Given the description of an element on the screen output the (x, y) to click on. 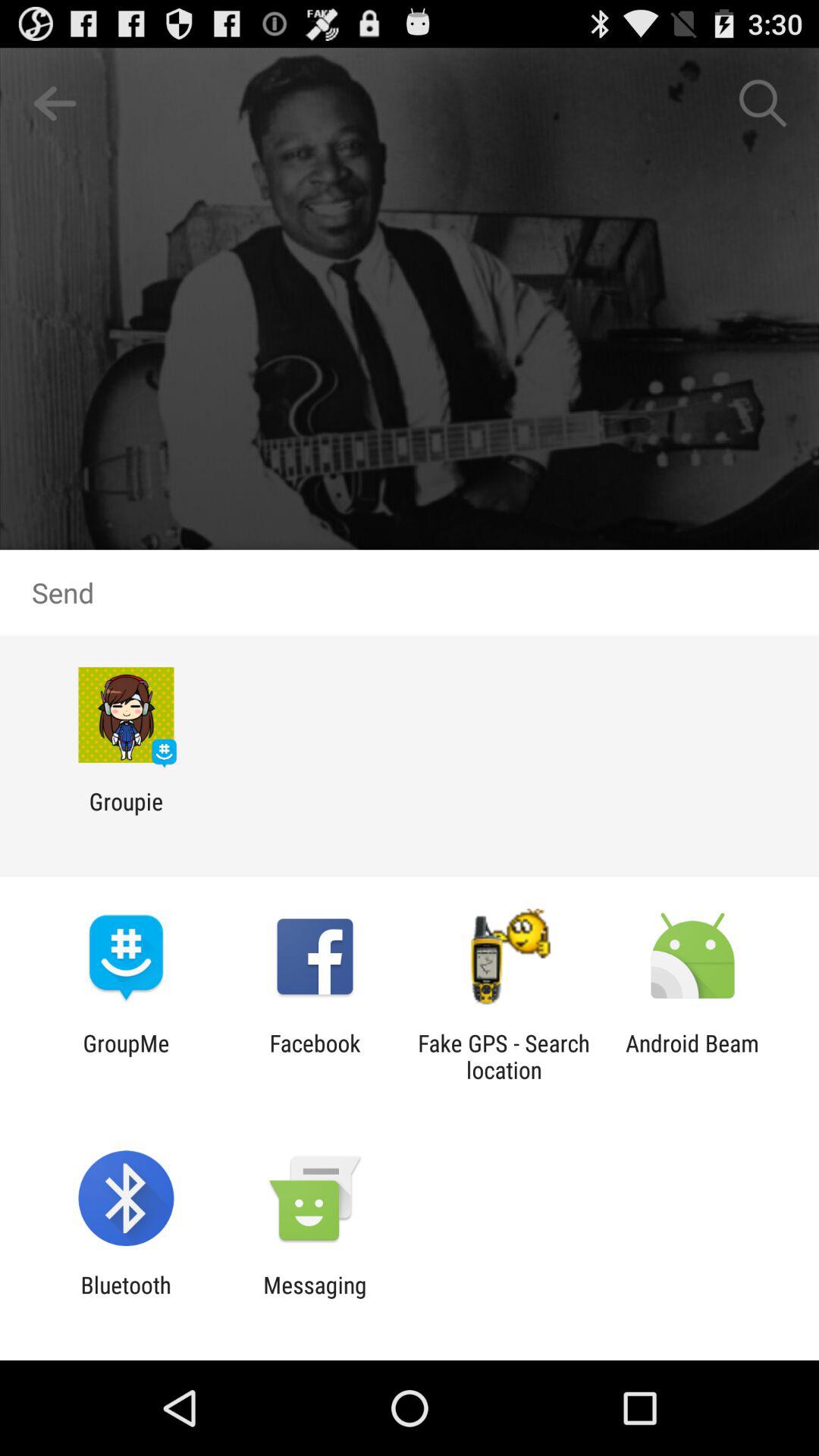
turn on the item next to the messaging app (125, 1298)
